Given the description of an element on the screen output the (x, y) to click on. 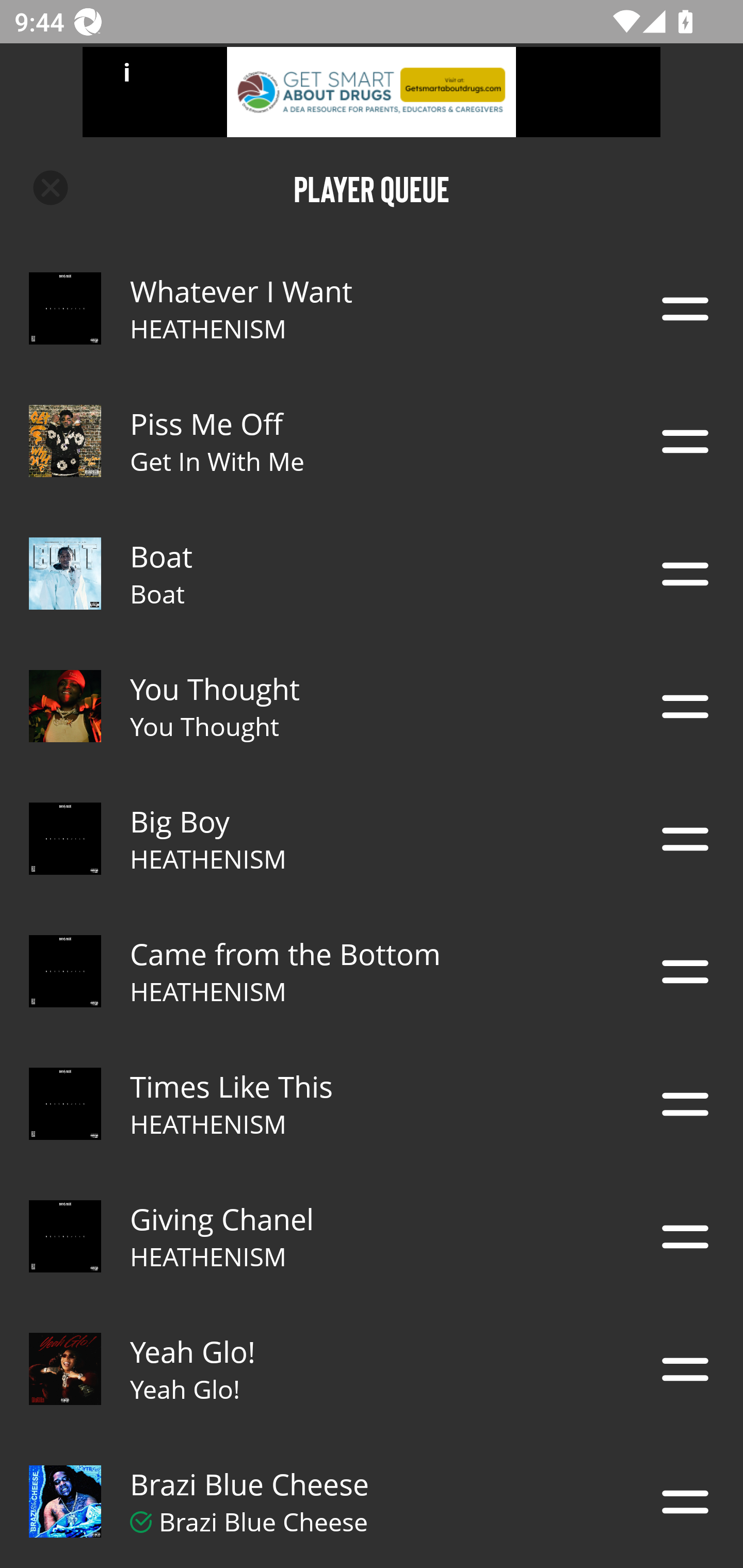
Navigate up (50, 187)
Description Piss Me Off Get In With Me Description (371, 441)
Description Boat Boat Description (371, 573)
Description You Thought You Thought Description (371, 706)
Description Big Boy HEATHENISM Description (371, 838)
Description Times Like This HEATHENISM Description (371, 1103)
Description Giving Chanel HEATHENISM Description (371, 1236)
Description Yeah Glo! Yeah Glo! Description (371, 1368)
